Given the description of an element on the screen output the (x, y) to click on. 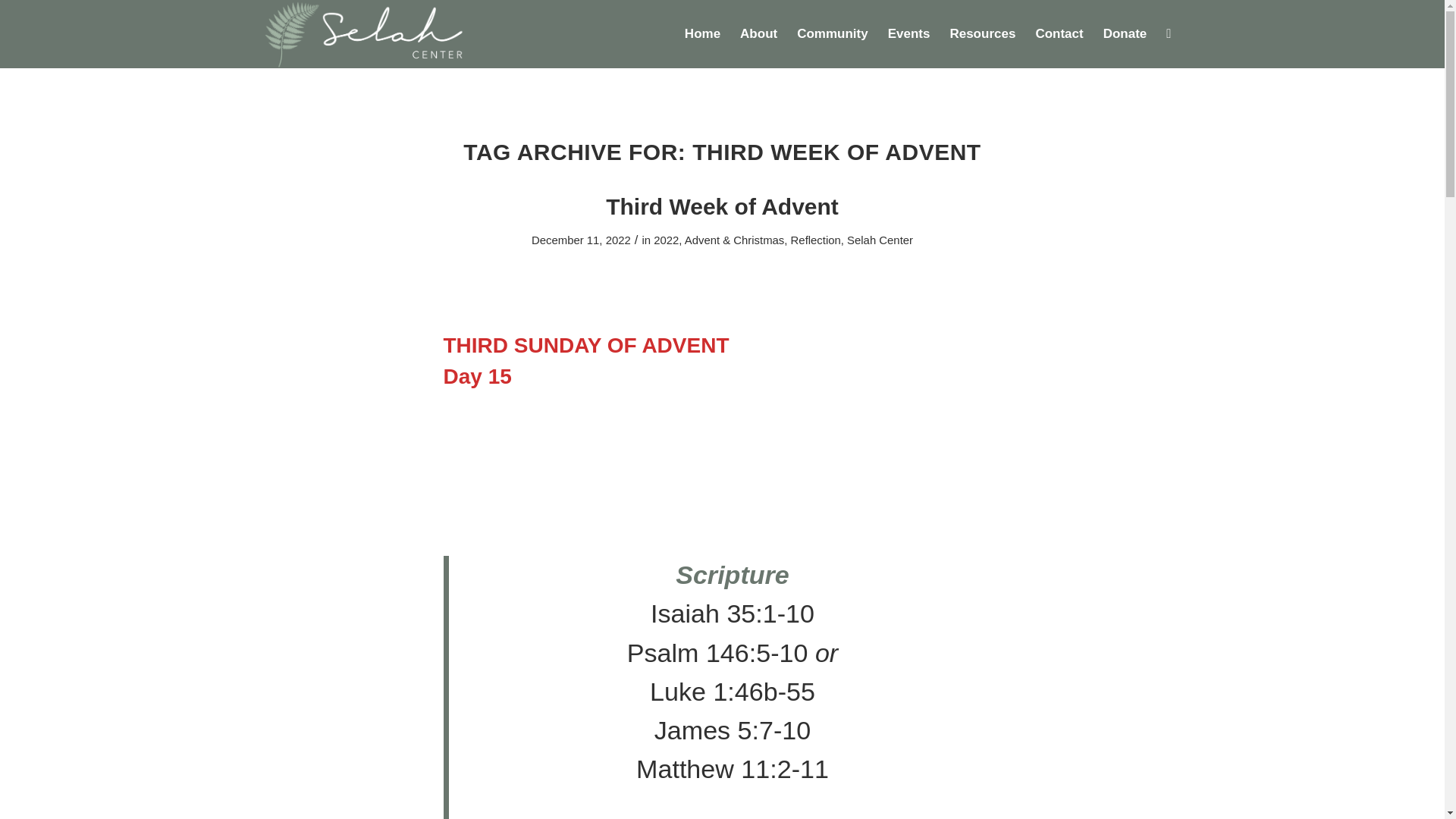
Community (832, 33)
2022 (665, 240)
Permanent Link: Third Week of Advent (721, 206)
Contact (1059, 33)
Events (908, 33)
Reflection (815, 240)
Third Week of Advent (721, 206)
Resources (982, 33)
Donate (1125, 33)
Selah Center (879, 240)
